Given the description of an element on the screen output the (x, y) to click on. 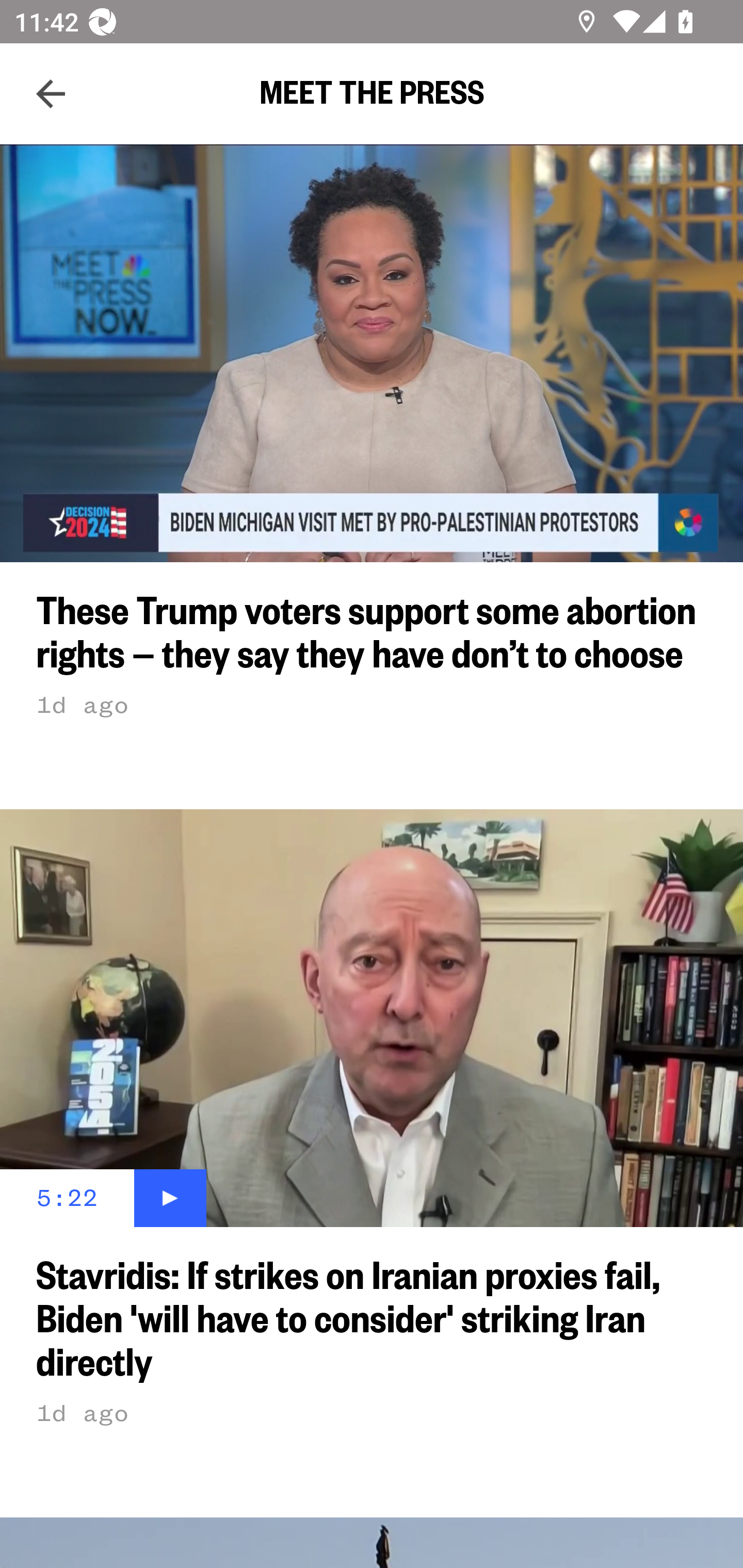
Navigate up (50, 93)
